Given the description of an element on the screen output the (x, y) to click on. 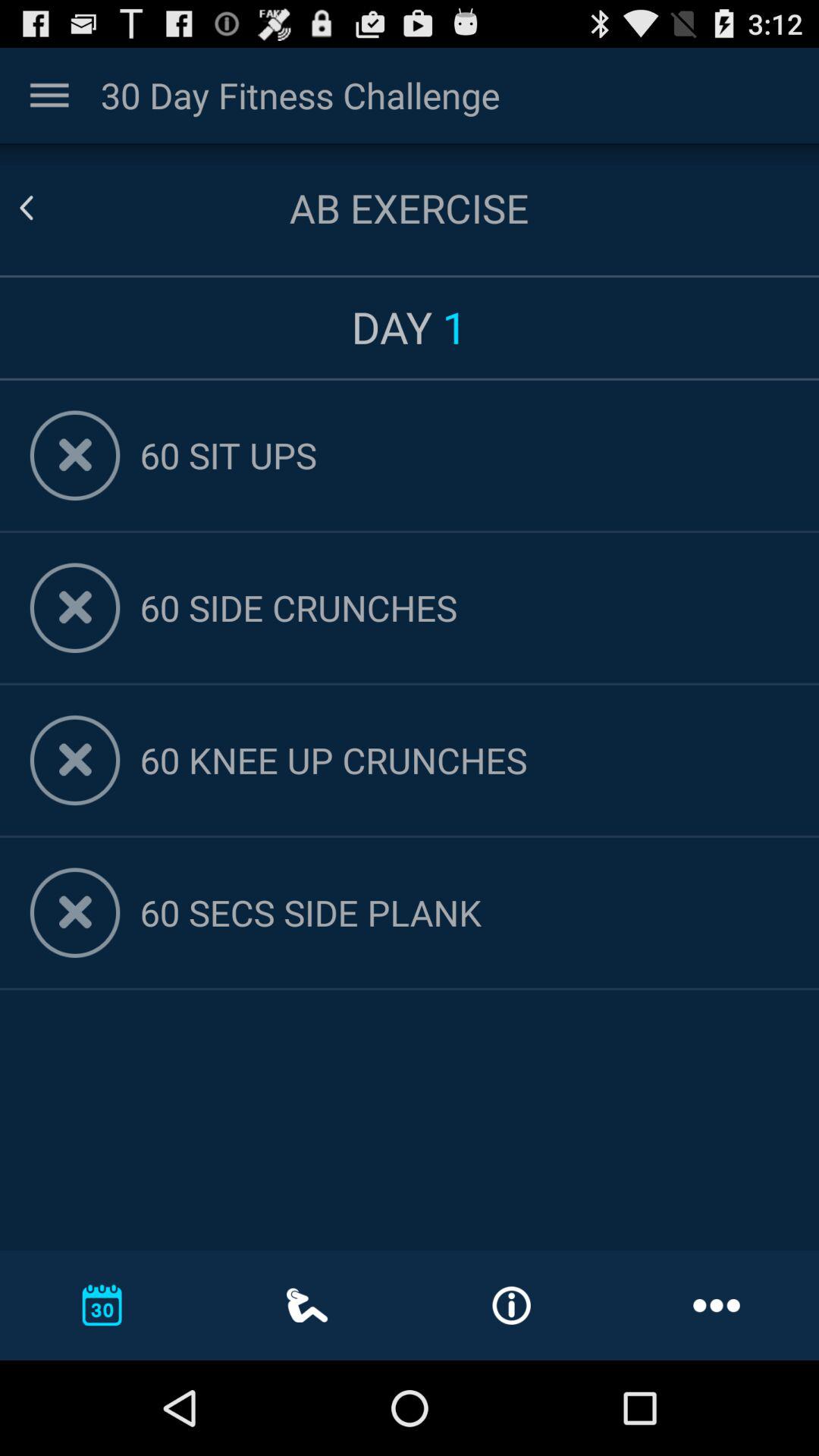
turn on app below 60 side crunches item (463, 759)
